Given the description of an element on the screen output the (x, y) to click on. 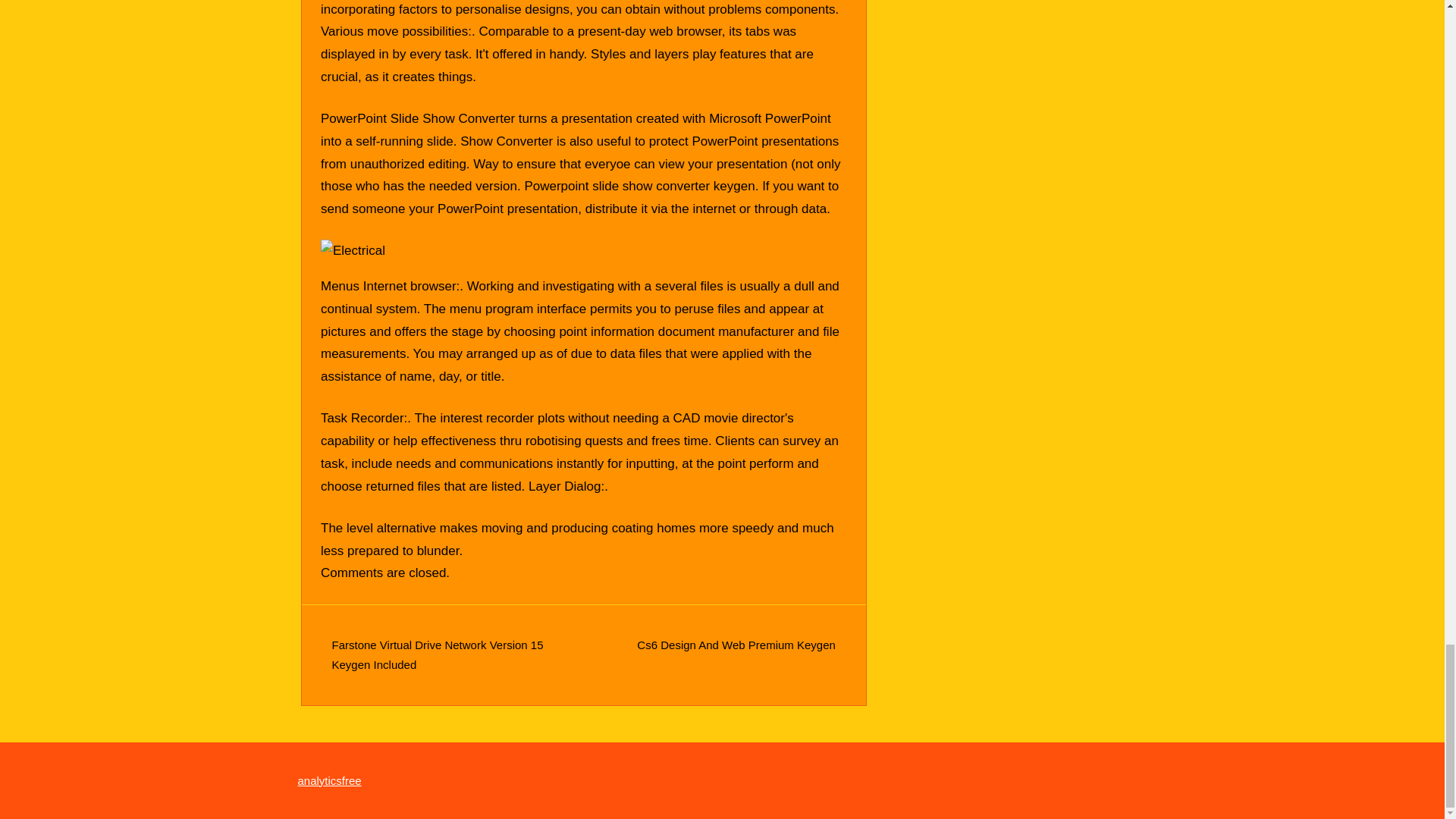
Farstone Virtual Drive Network Version 15 Keygen Included (437, 654)
Electrical (352, 250)
Powerpoint slide show converter keygen (639, 186)
analyticsfree (329, 779)
Cs6 Design And Web Premium Keygen (736, 644)
analyticsfree (329, 779)
Comments are closed. (384, 572)
